Given the description of an element on the screen output the (x, y) to click on. 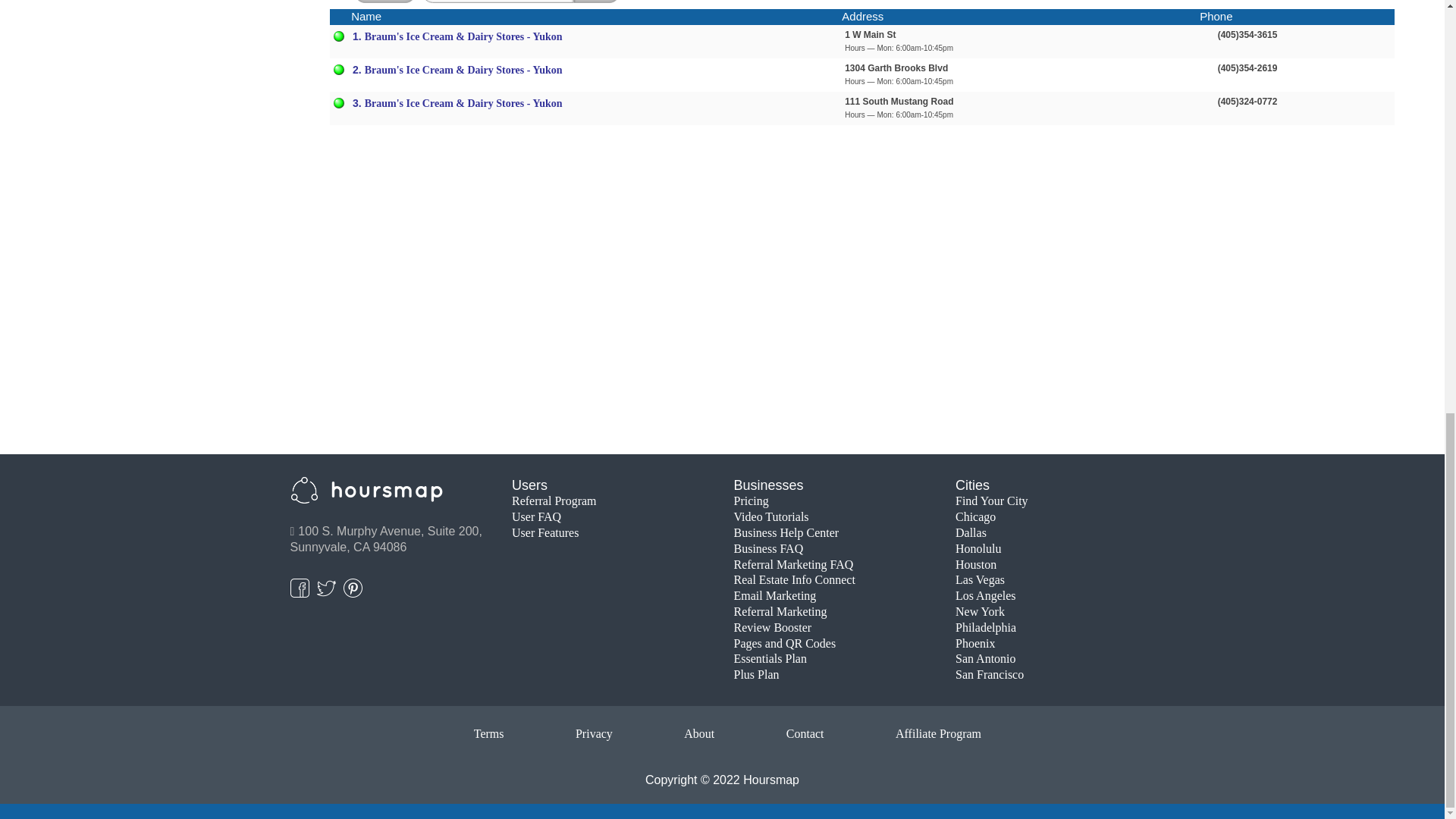
 Search (596, 1)
Find Me (384, 1)
